Given the description of an element on the screen output the (x, y) to click on. 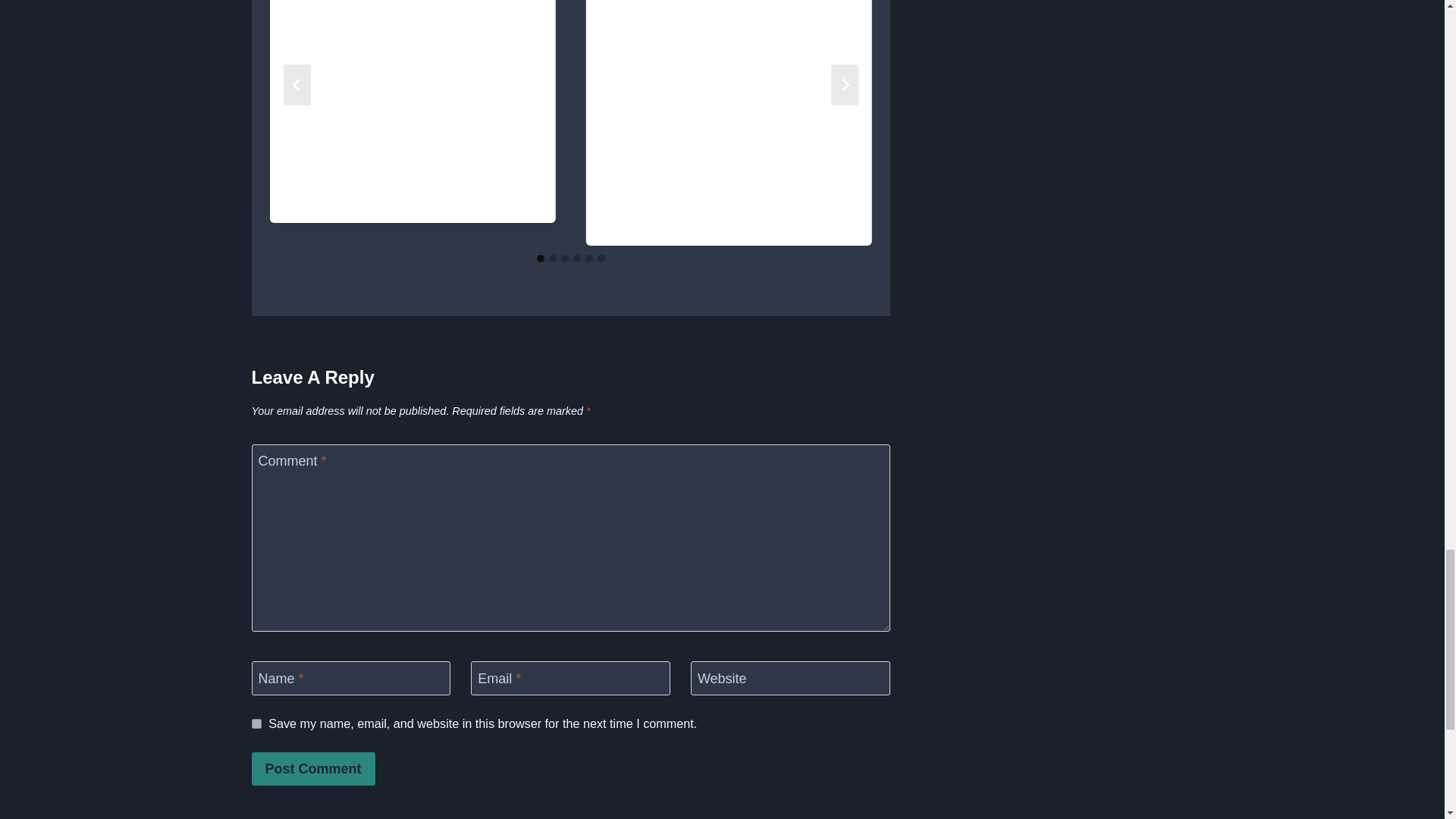
yes (256, 723)
What Are The Postoperative Steps After Tooth Extraction? (412, 57)
Post Comment (313, 768)
